Given the description of an element on the screen output the (x, y) to click on. 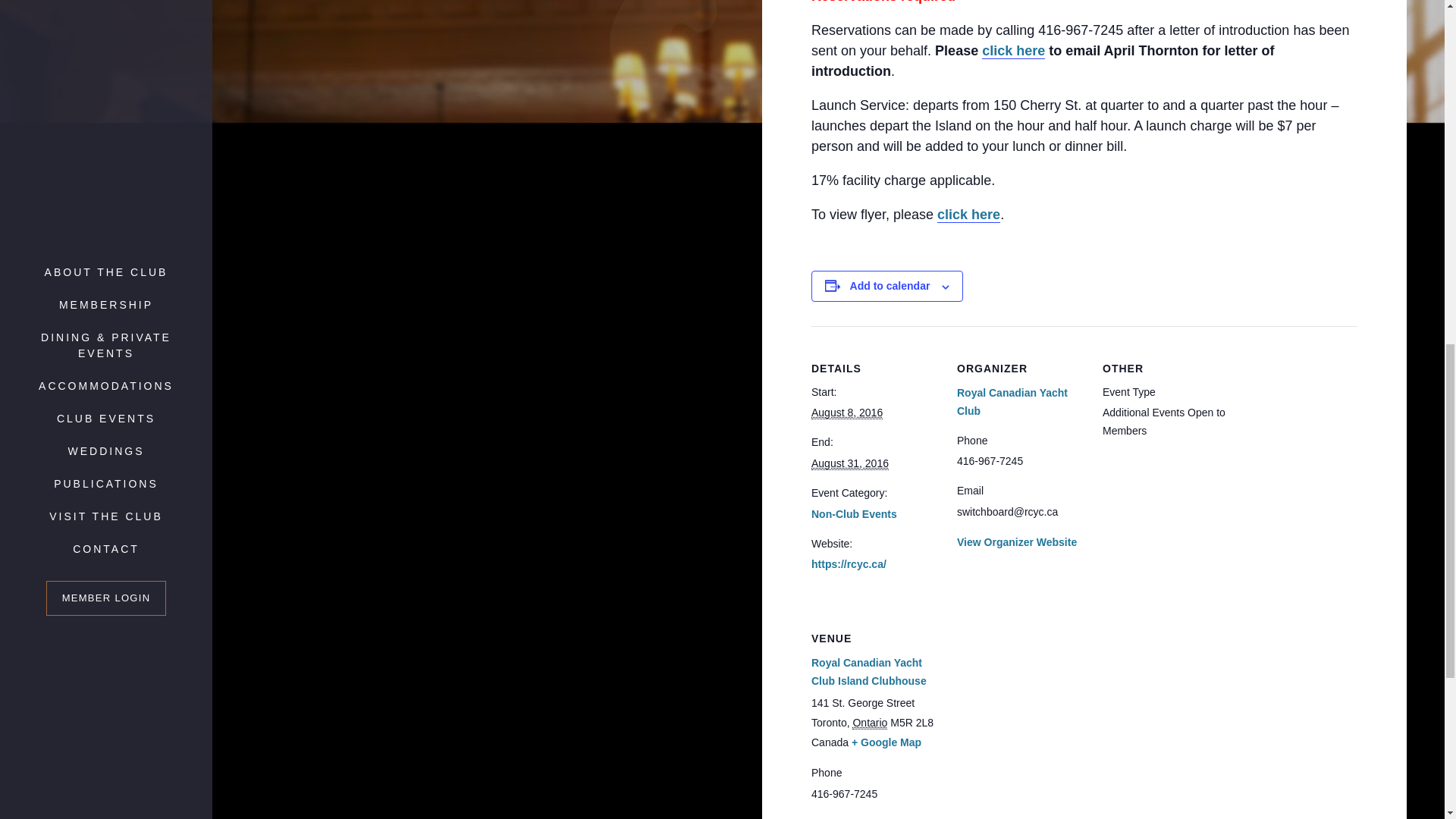
2016-08-08 (846, 412)
2016-08-31 (849, 463)
Click to view a Google Map (886, 742)
Royal Canadian Yacht Club (1011, 401)
Ontario (868, 722)
